Given the description of an element on the screen output the (x, y) to click on. 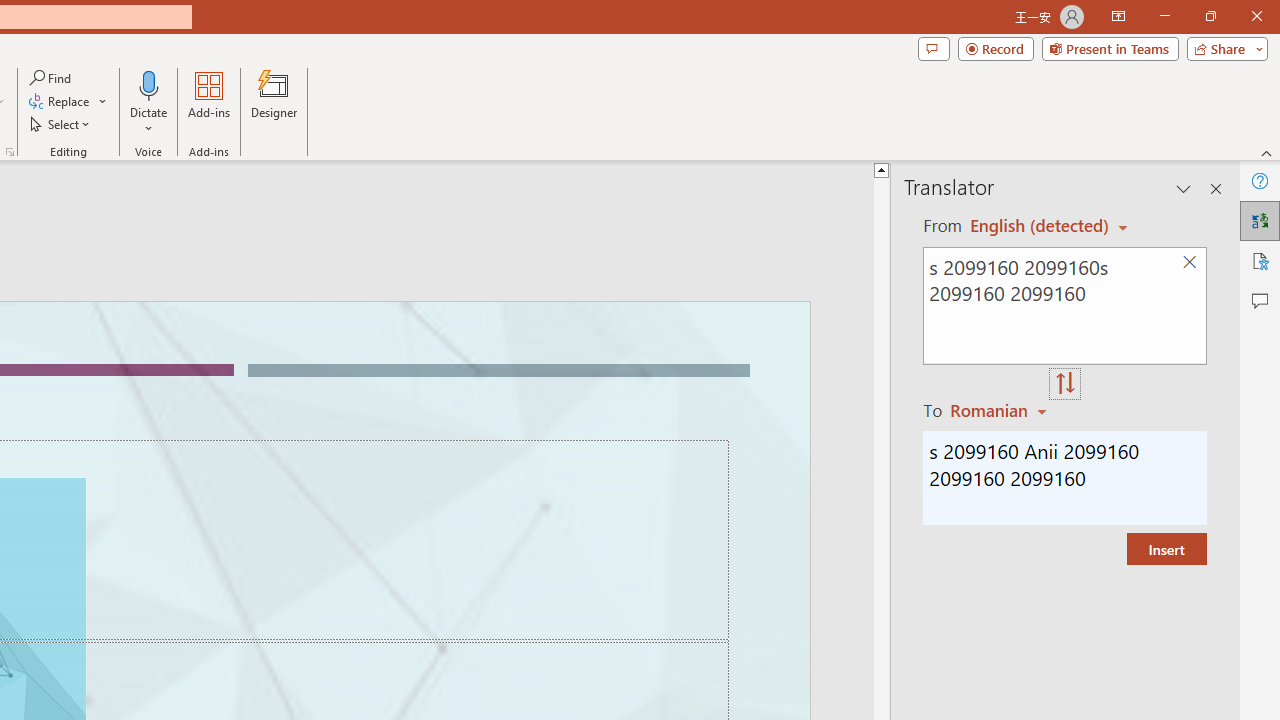
Replace... (68, 101)
Select (61, 124)
Czech (1001, 409)
